Given the description of an element on the screen output the (x, y) to click on. 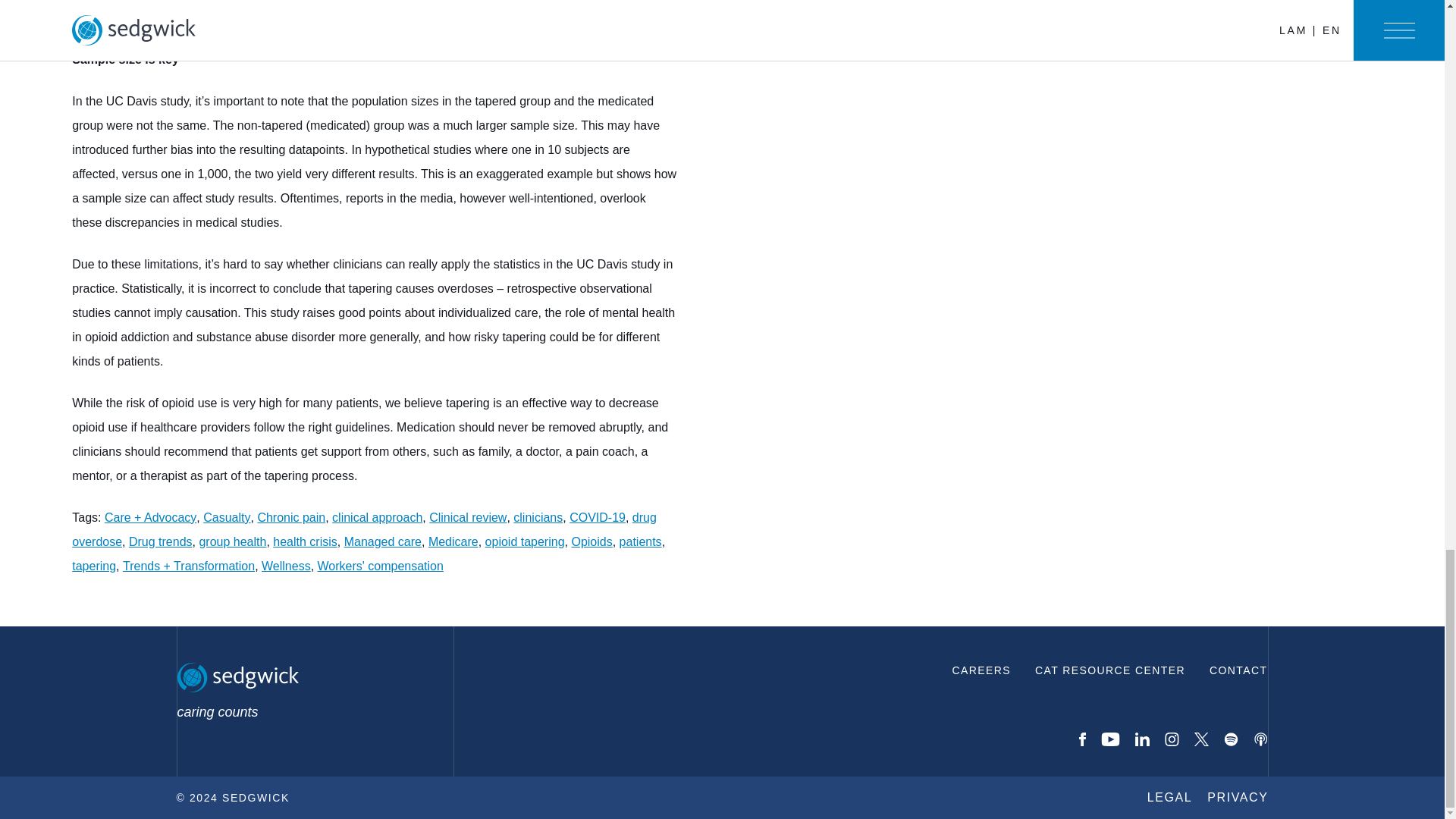
Contact (1238, 669)
Careers (981, 669)
CAT resource center (1110, 669)
